Given the description of an element on the screen output the (x, y) to click on. 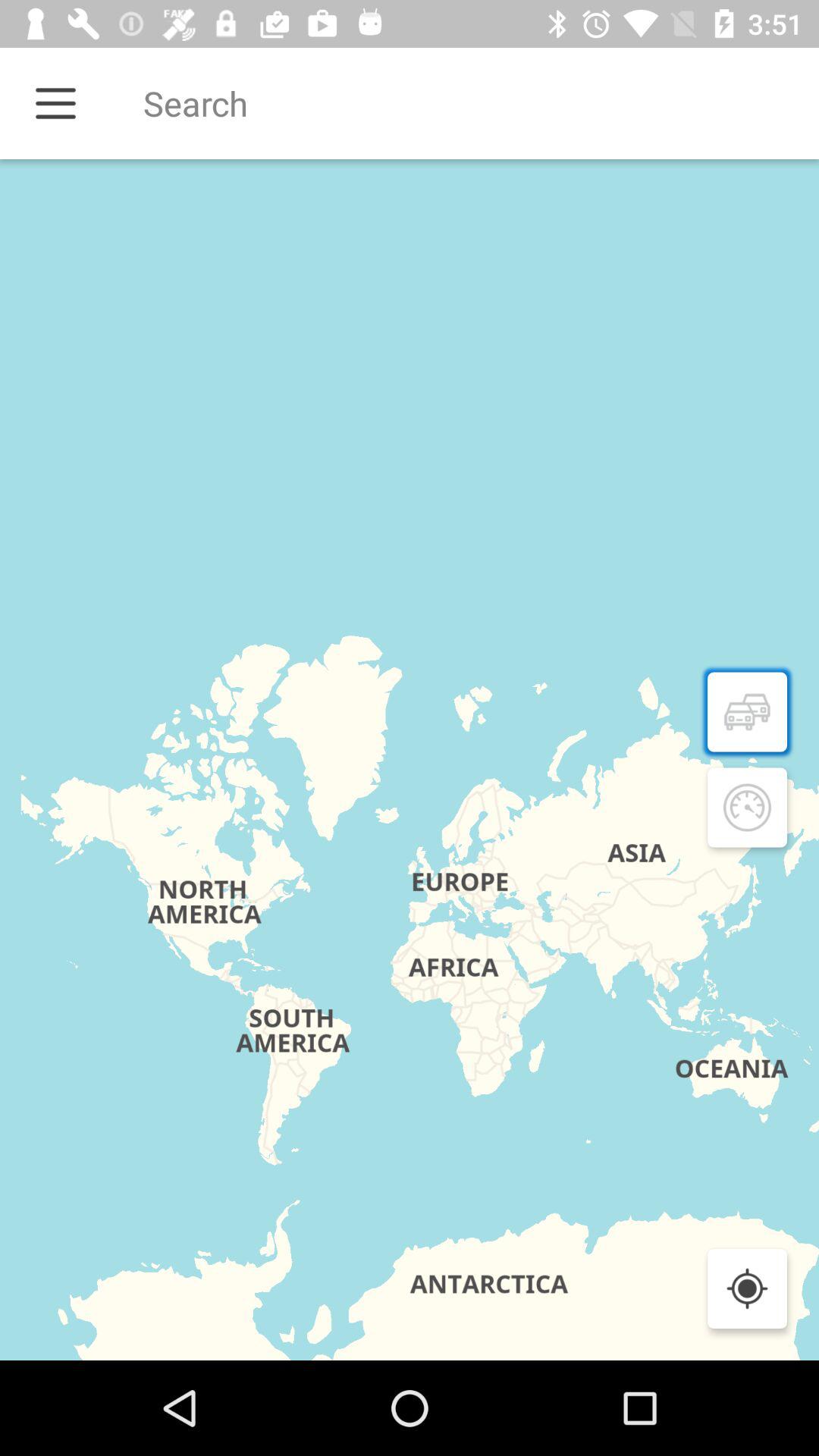
show more menu options (55, 103)
